Given the description of an element on the screen output the (x, y) to click on. 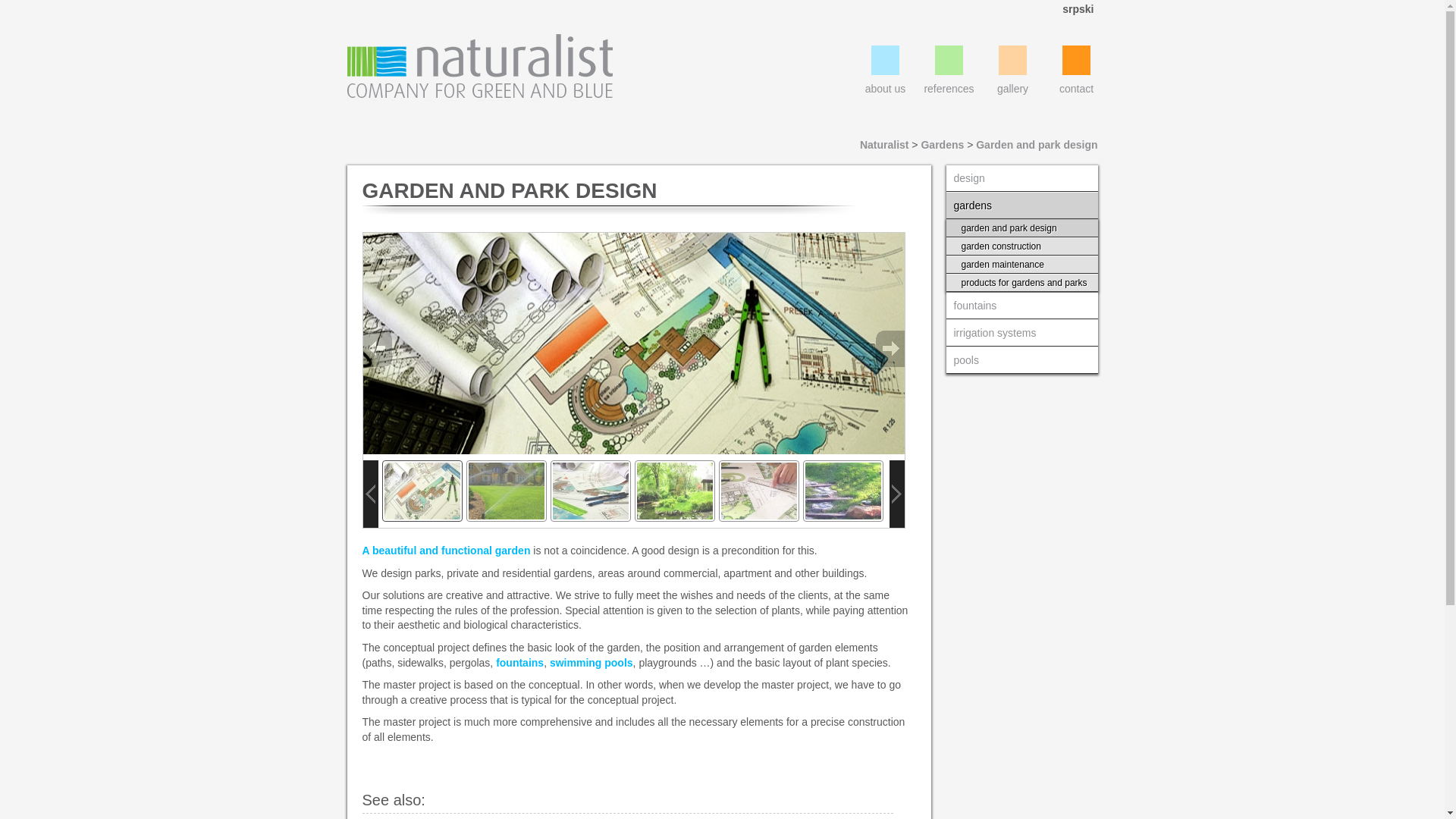
garden construction (1021, 246)
fountains (1021, 305)
garden maintenance (1021, 264)
products for gardens and parks (1021, 282)
Gardens (941, 144)
Go to Garden and park design. (1036, 144)
swimming pools (591, 662)
Garden and park design (1036, 144)
fountains (519, 662)
references (949, 69)
